Given the description of an element on the screen output the (x, y) to click on. 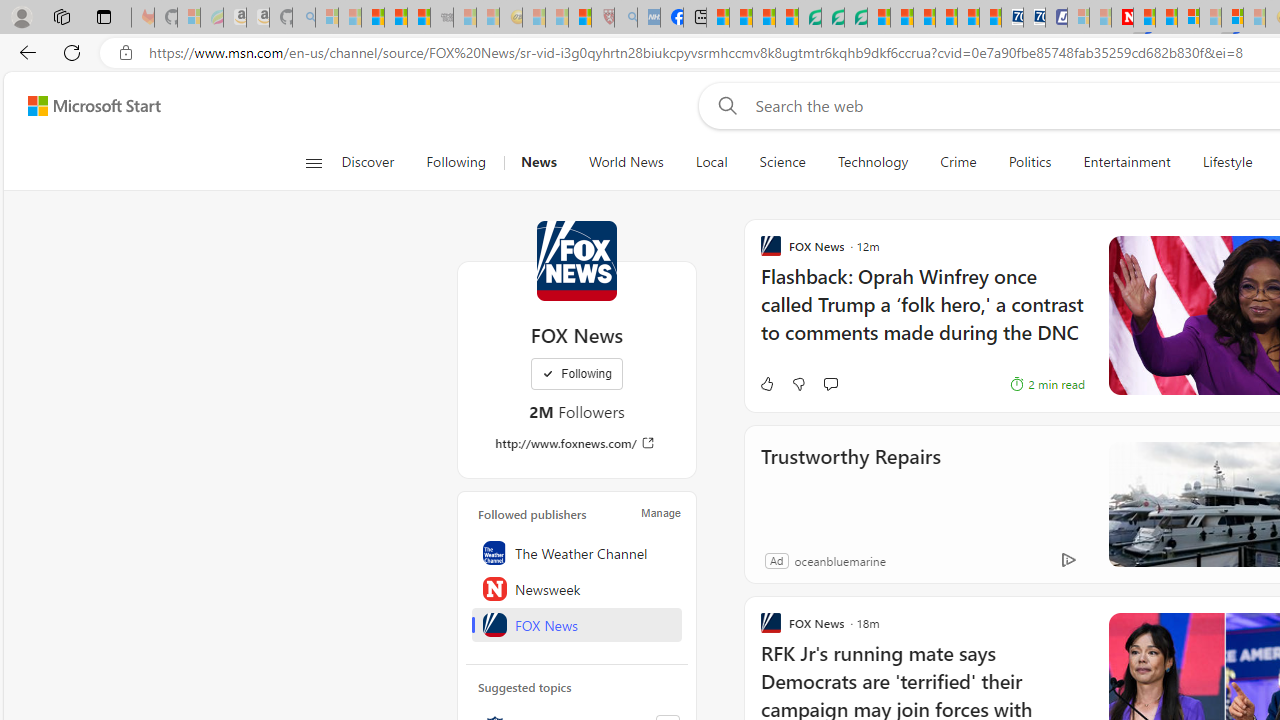
Cheap Hotels - Save70.com (1034, 17)
FOX News (576, 260)
